Given the description of an element on the screen output the (x, y) to click on. 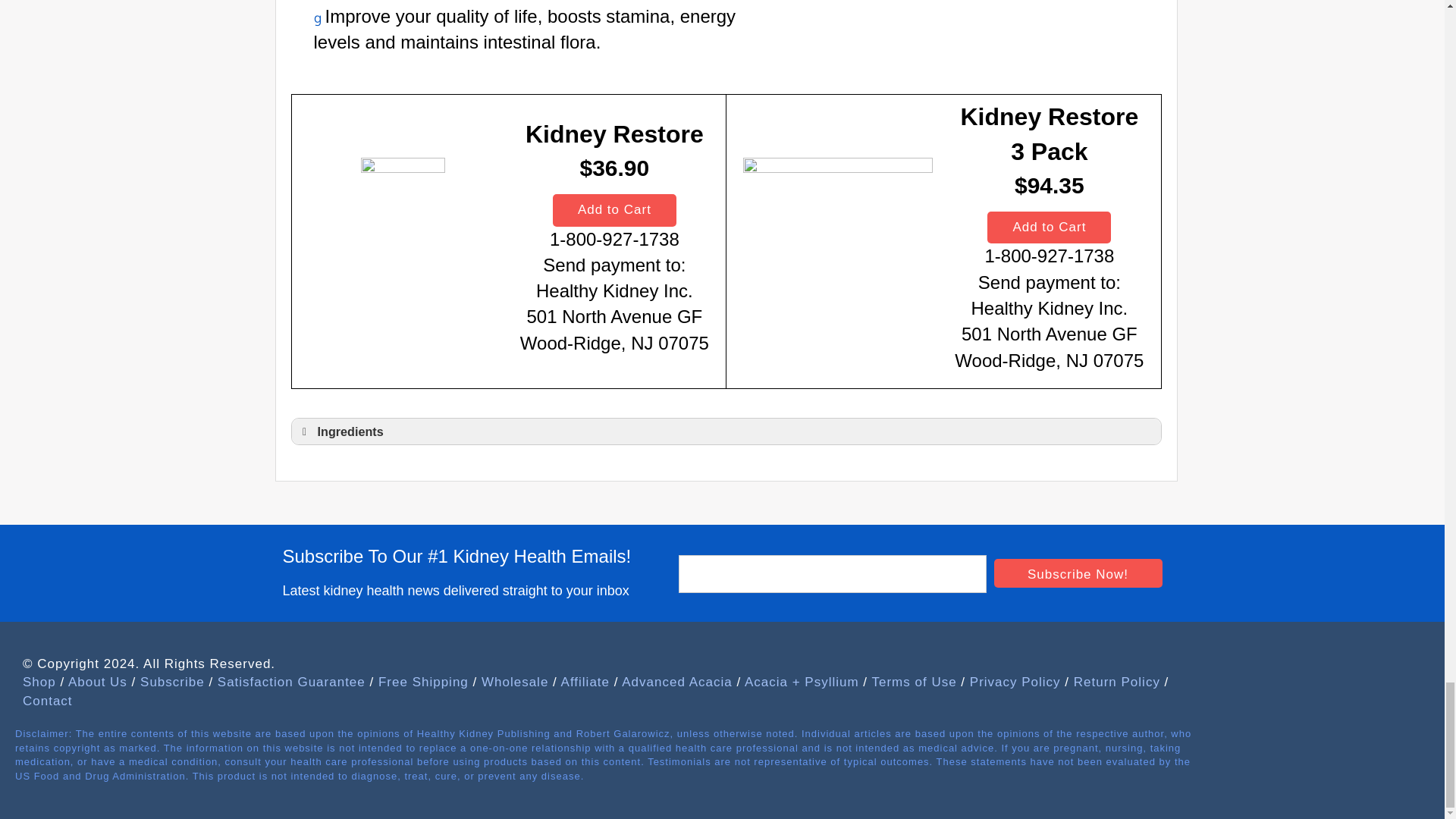
Add to Cart (1048, 227)
Subscribe Now! (1076, 573)
Add to Cart (615, 210)
